Given the description of an element on the screen output the (x, y) to click on. 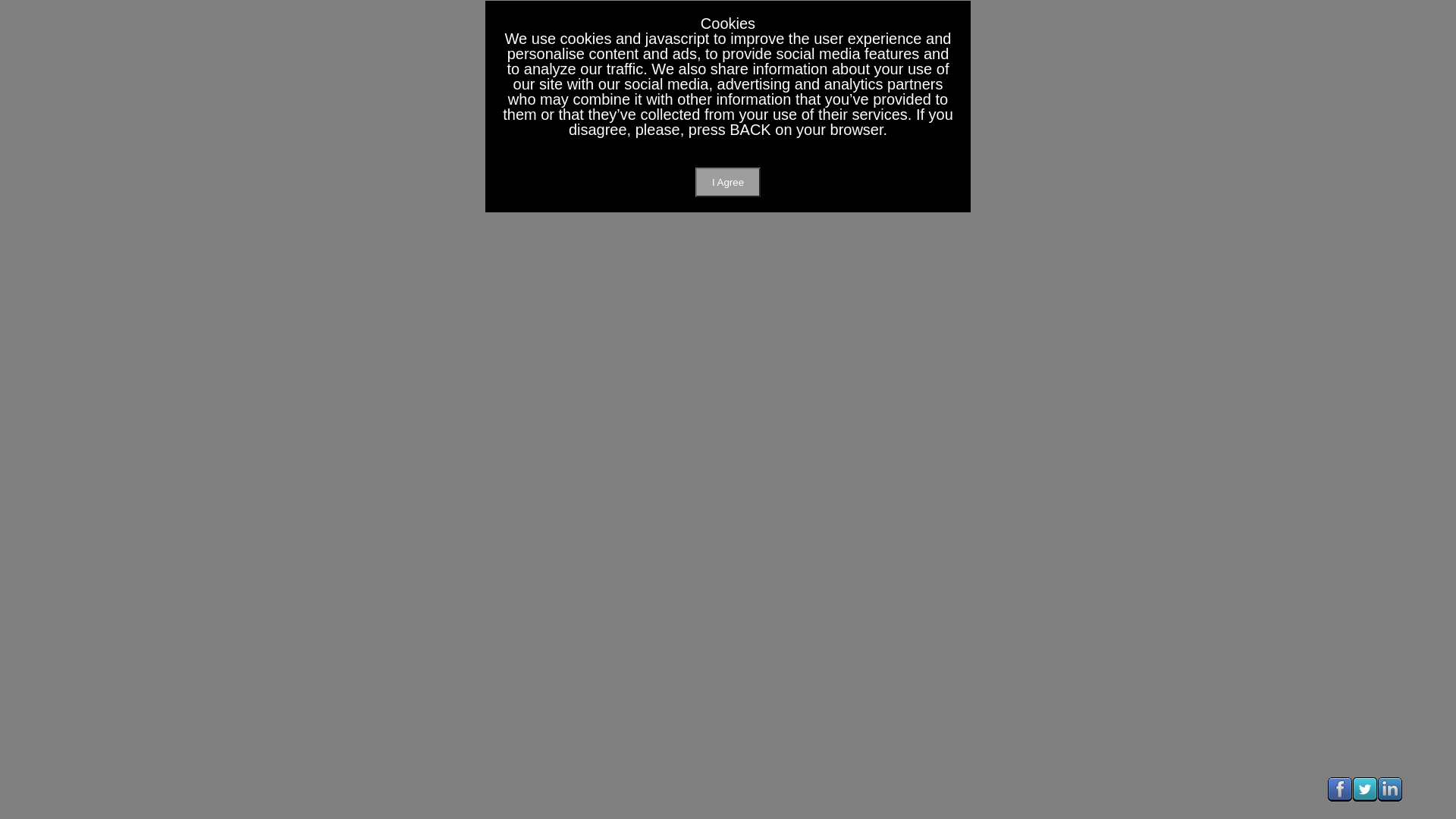
Visit Us On Linkedin Element type: hover (1389, 796)
Visit Us On Facebook Element type: hover (1339, 796)
I Agree Element type: text (727, 182)
Visit Us On Twitter Element type: hover (1364, 796)
